Given the description of an element on the screen output the (x, y) to click on. 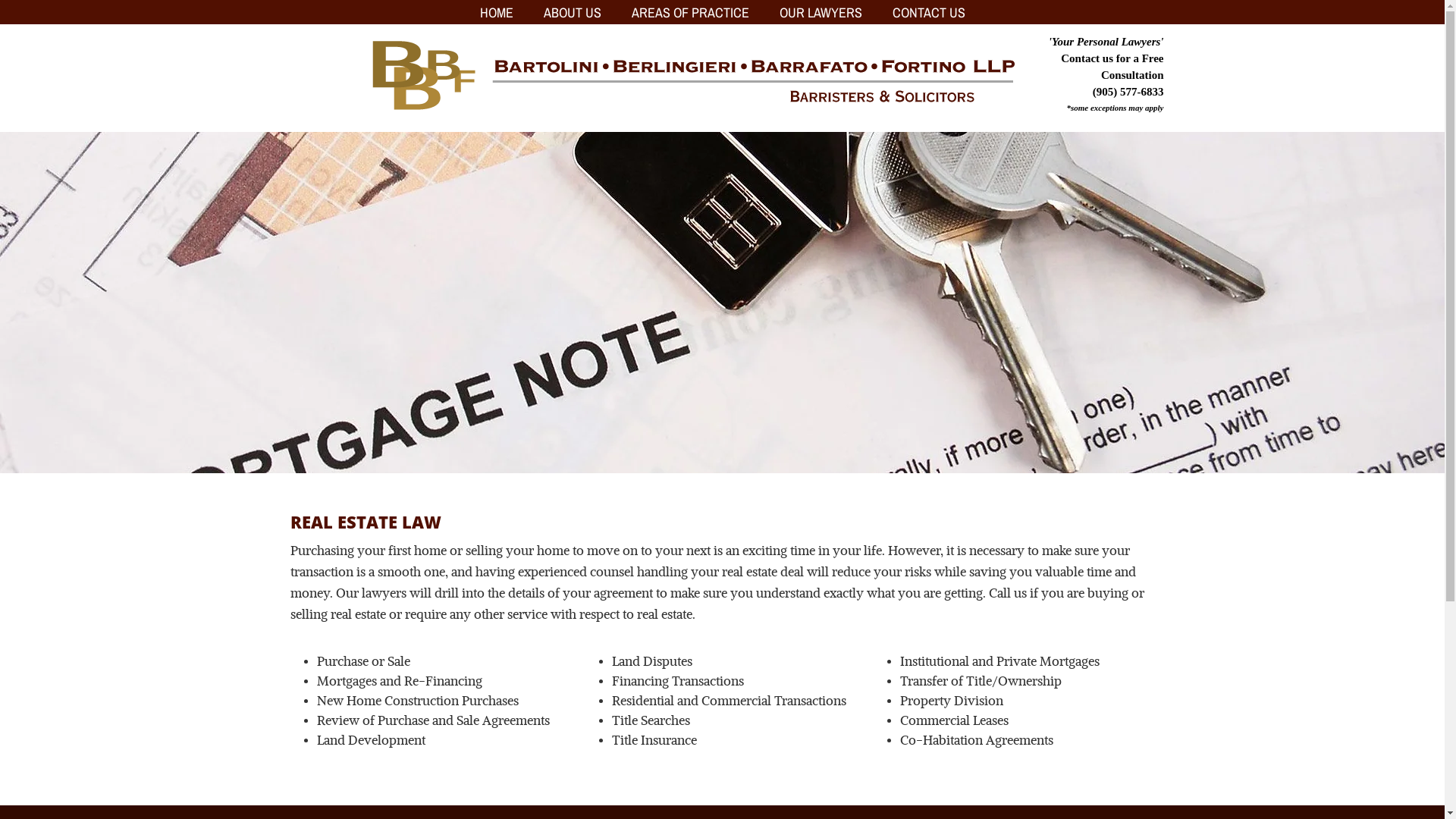
CONTACT US Element type: text (927, 12)
ABOUT US Element type: text (571, 12)
Call us Element type: text (1007, 594)
AREAS OF PRACTICE Element type: text (689, 12)
HOME Element type: text (495, 12)
OUR LAWYERS Element type: text (820, 12)
